Given the description of an element on the screen output the (x, y) to click on. 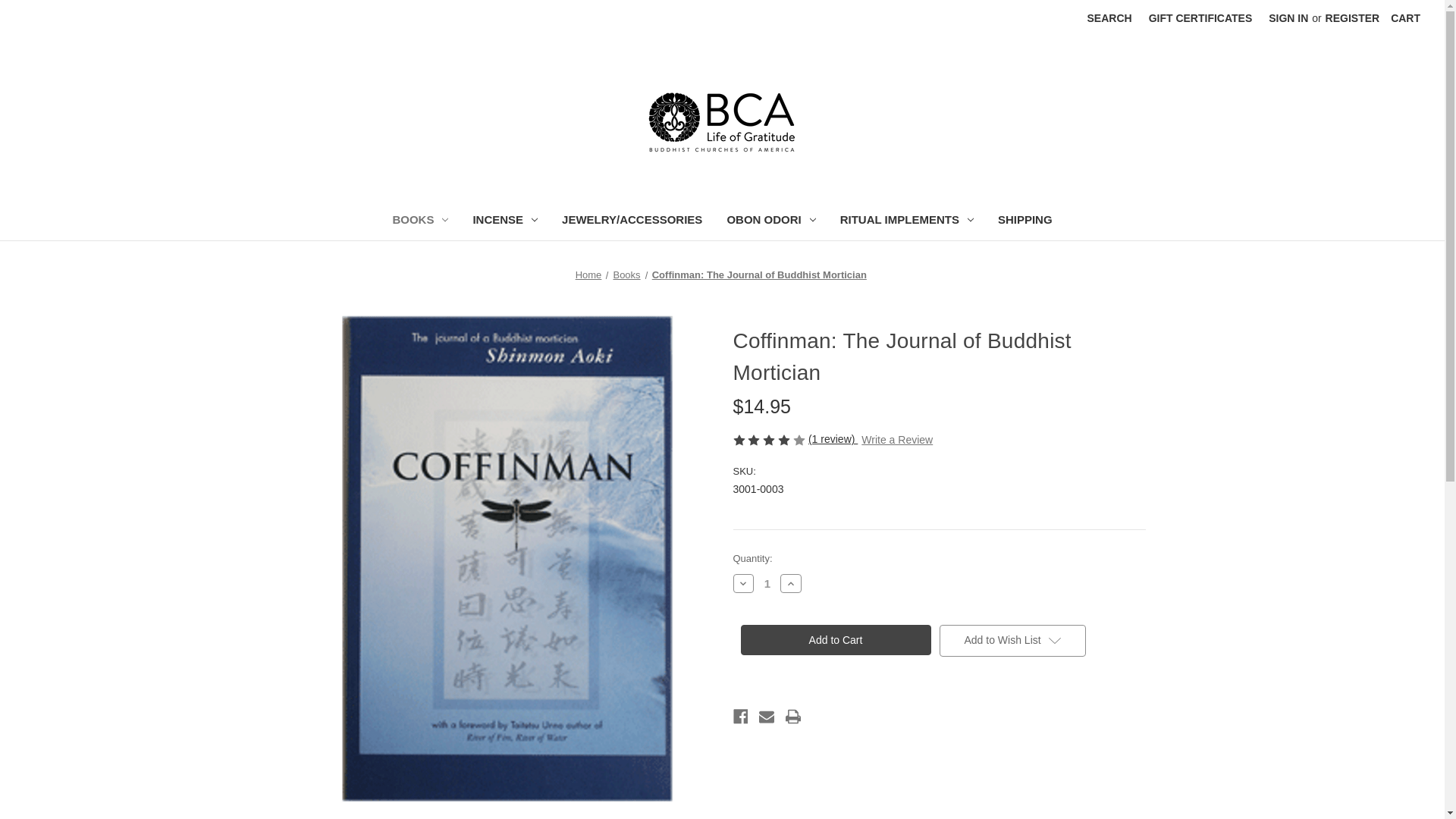
OBON ODORI (770, 221)
Add to Cart (834, 639)
SEARCH (1109, 18)
SIGN IN (1288, 18)
INCENSE (505, 221)
BCA Bookstore (722, 117)
BOOKS (420, 221)
REGISTER (1353, 18)
1 (767, 583)
GIFT CERTIFICATES (1200, 18)
CART (1404, 18)
RITUAL IMPLEMENTS (906, 221)
